Given the description of an element on the screen output the (x, y) to click on. 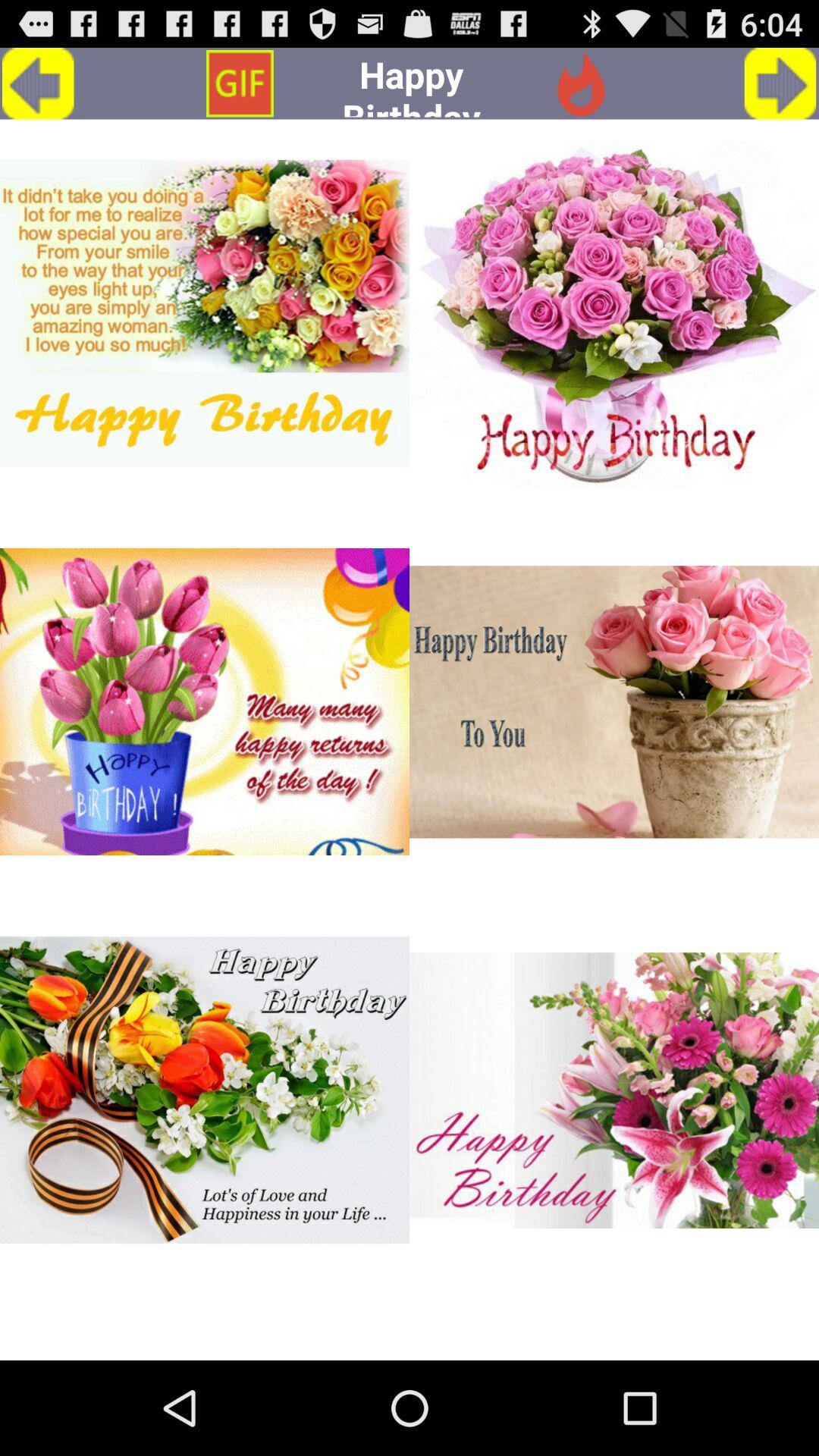
select happy birthday picture (204, 701)
